Given the description of an element on the screen output the (x, y) to click on. 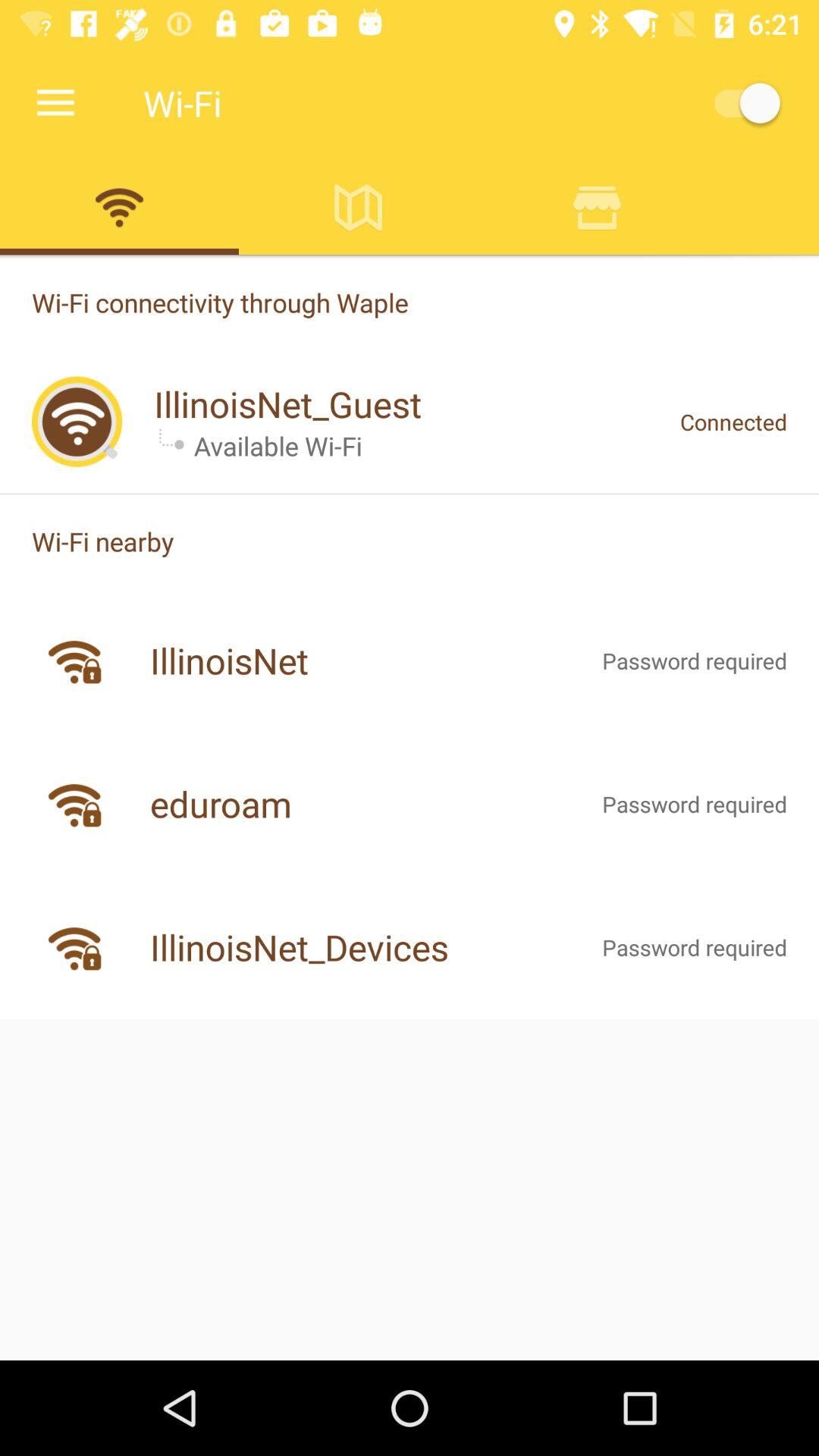
navigate to wi-fi tab (119, 206)
